Given the description of an element on the screen output the (x, y) to click on. 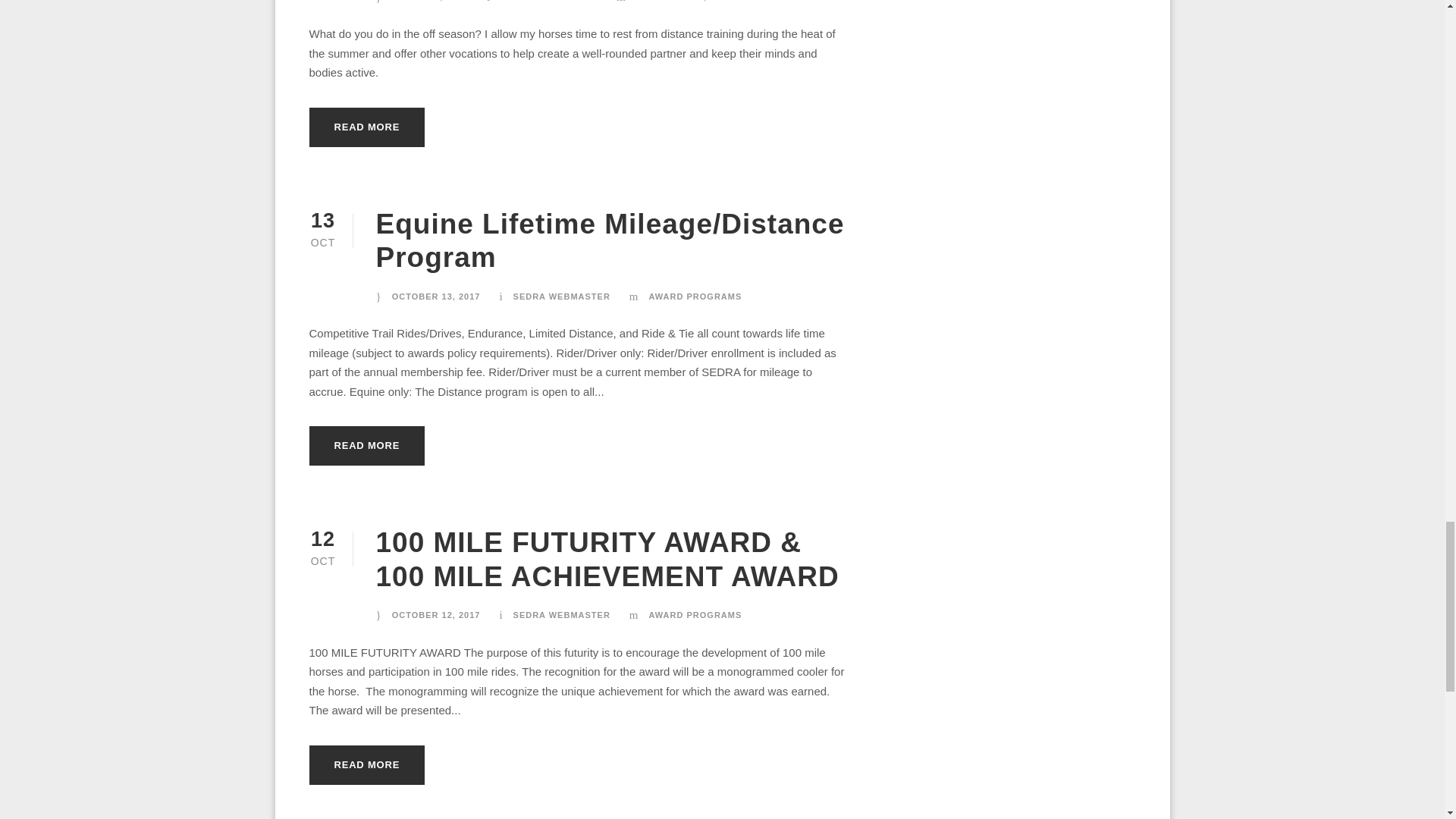
Posts by SEDRA Webmaster (561, 296)
Posts by SEDRA Webmaster (548, 0)
Posts by SEDRA Webmaster (561, 614)
